Given the description of an element on the screen output the (x, y) to click on. 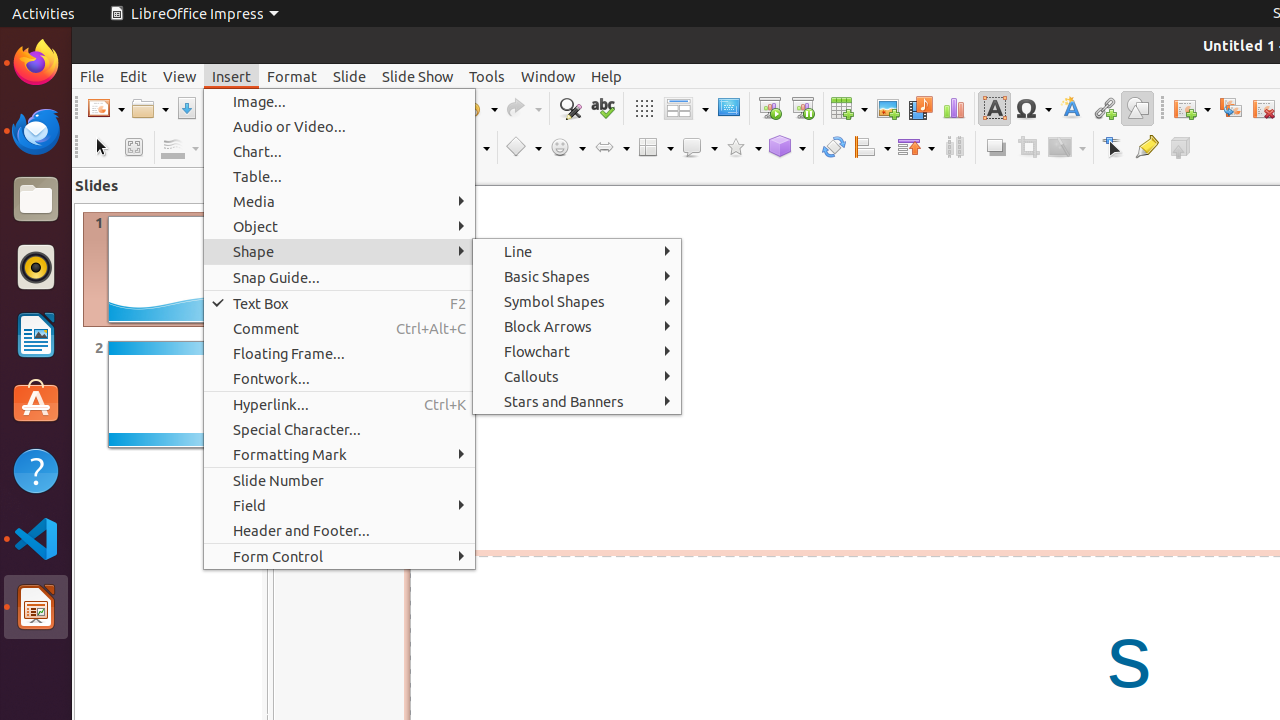
Object Element type: menu (339, 226)
